Given the description of an element on the screen output the (x, y) to click on. 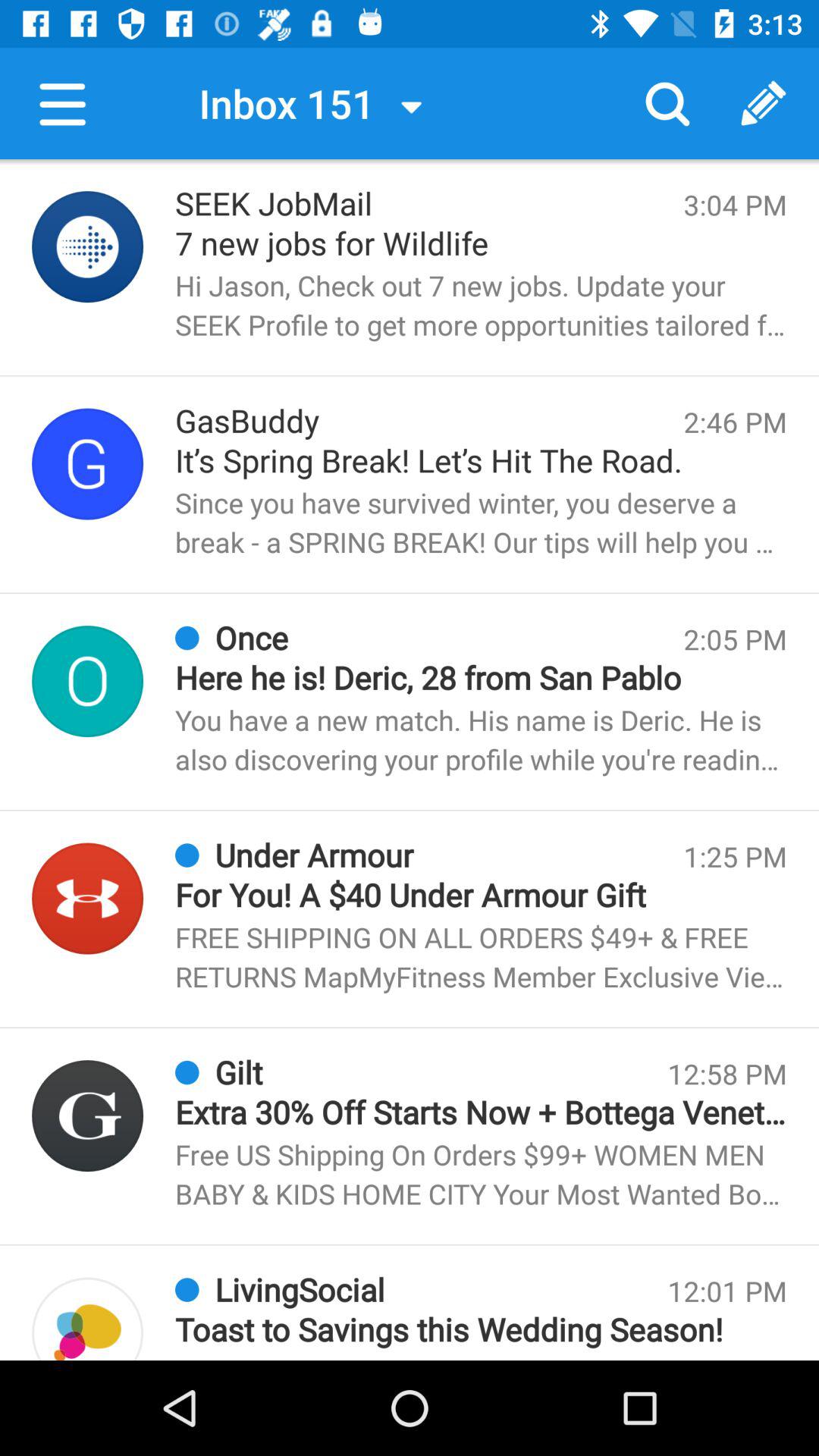
open info about that sender (87, 681)
